Given the description of an element on the screen output the (x, y) to click on. 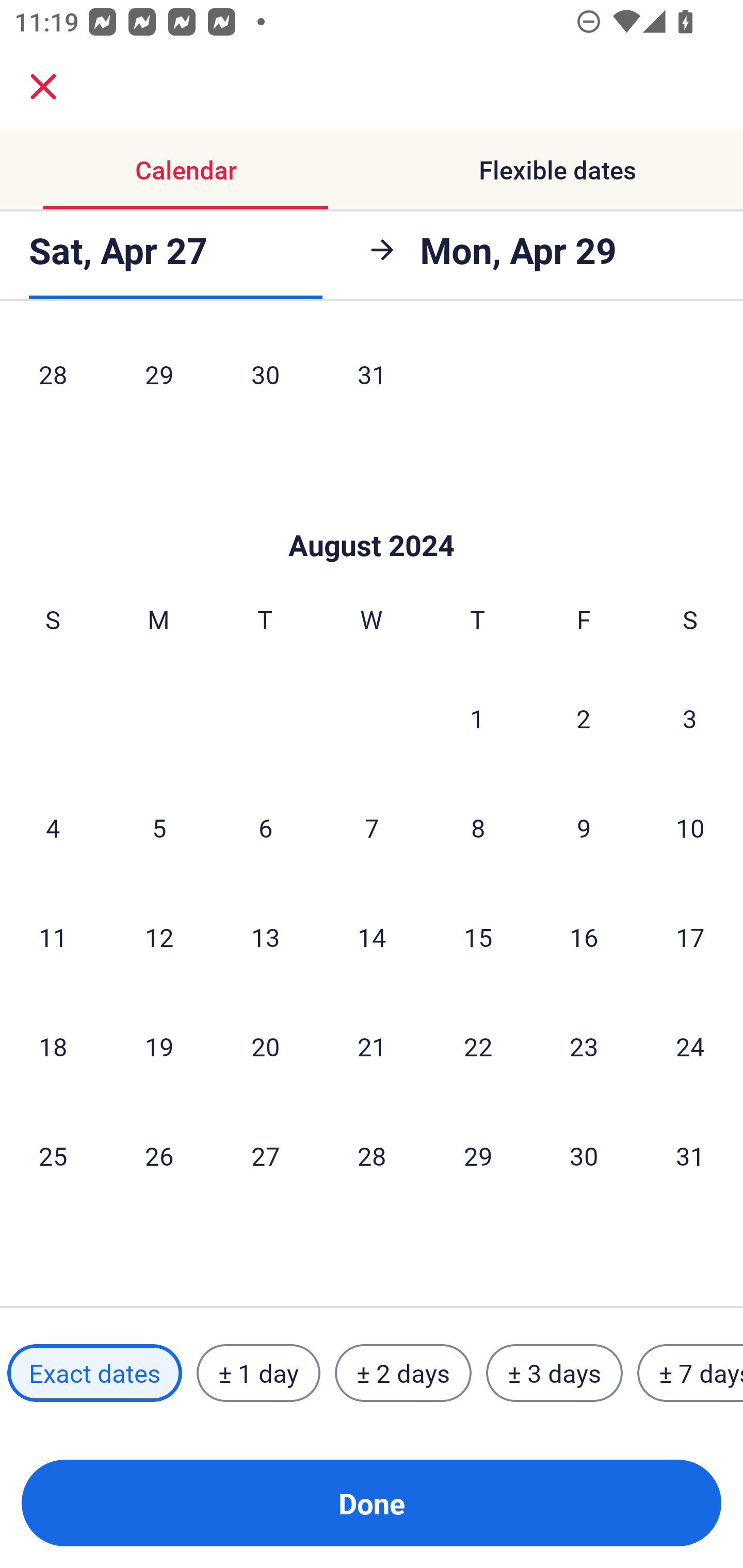
close. (43, 86)
Flexible dates (557, 170)
28 Sunday, July 28, 2024 (53, 378)
29 Monday, July 29, 2024 (159, 378)
30 Tuesday, July 30, 2024 (265, 378)
31 Wednesday, July 31, 2024 (371, 378)
Skip to Done (371, 514)
1 Thursday, August 1, 2024 (477, 717)
2 Friday, August 2, 2024 (583, 717)
3 Saturday, August 3, 2024 (689, 717)
4 Sunday, August 4, 2024 (53, 827)
5 Monday, August 5, 2024 (159, 827)
6 Tuesday, August 6, 2024 (265, 827)
7 Wednesday, August 7, 2024 (371, 827)
8 Thursday, August 8, 2024 (477, 827)
9 Friday, August 9, 2024 (584, 827)
10 Saturday, August 10, 2024 (690, 827)
11 Sunday, August 11, 2024 (53, 936)
12 Monday, August 12, 2024 (159, 936)
13 Tuesday, August 13, 2024 (265, 936)
